Given the description of an element on the screen output the (x, y) to click on. 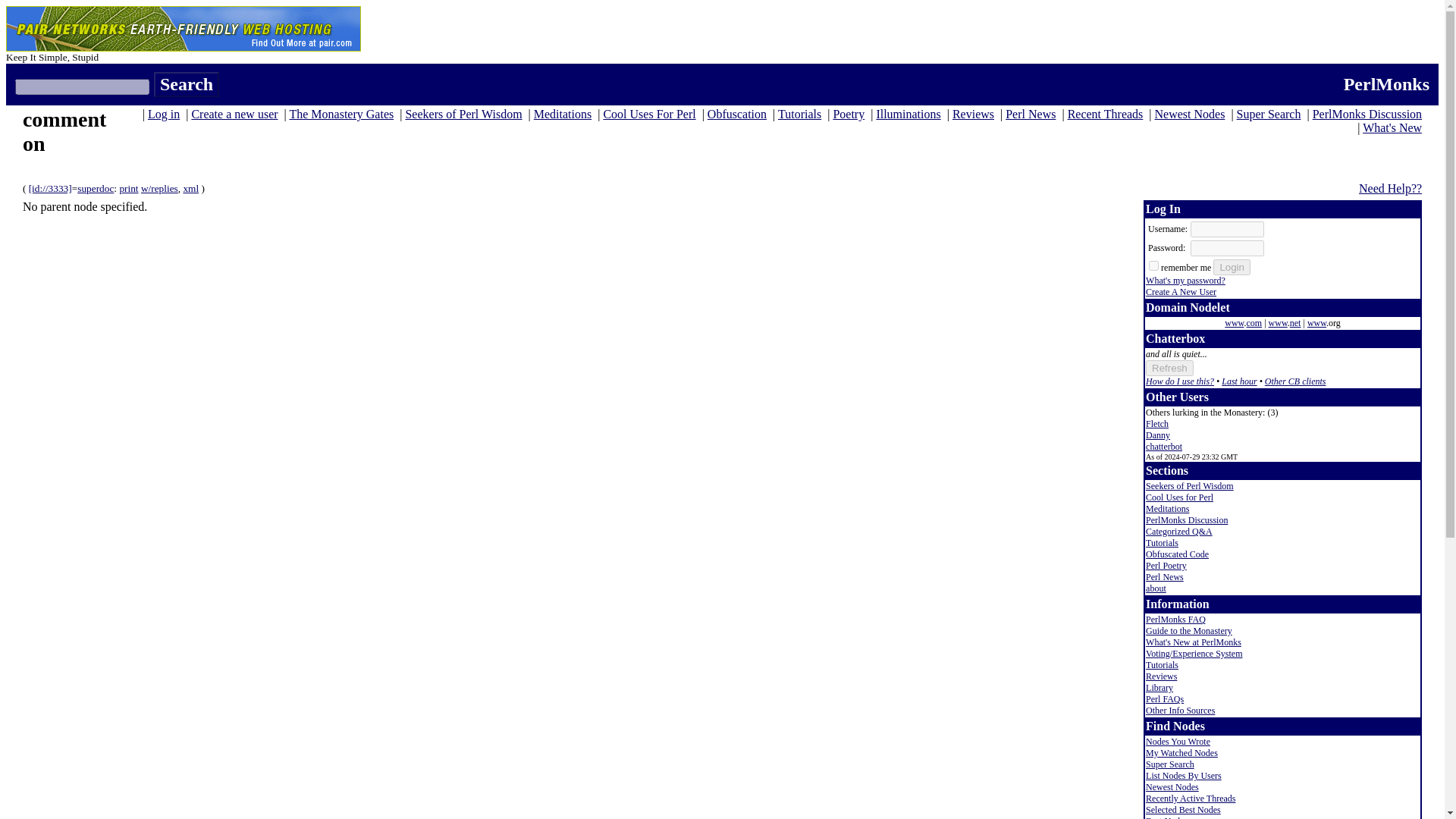
Log in (163, 113)
Tutorials (799, 113)
Recent Threads (1104, 113)
Need Help?? (1390, 187)
Illuminations (908, 113)
What's New (1392, 127)
Refresh (1169, 367)
chatterbot's home node. Level 1 (1163, 446)
Search (186, 84)
Newest Nodes (1189, 113)
Obfuscation (737, 113)
Super Search (1268, 113)
Poetry (848, 113)
PerlMonks (1386, 84)
Fletch's home node. Level 22 (1157, 423)
